Given the description of an element on the screen output the (x, y) to click on. 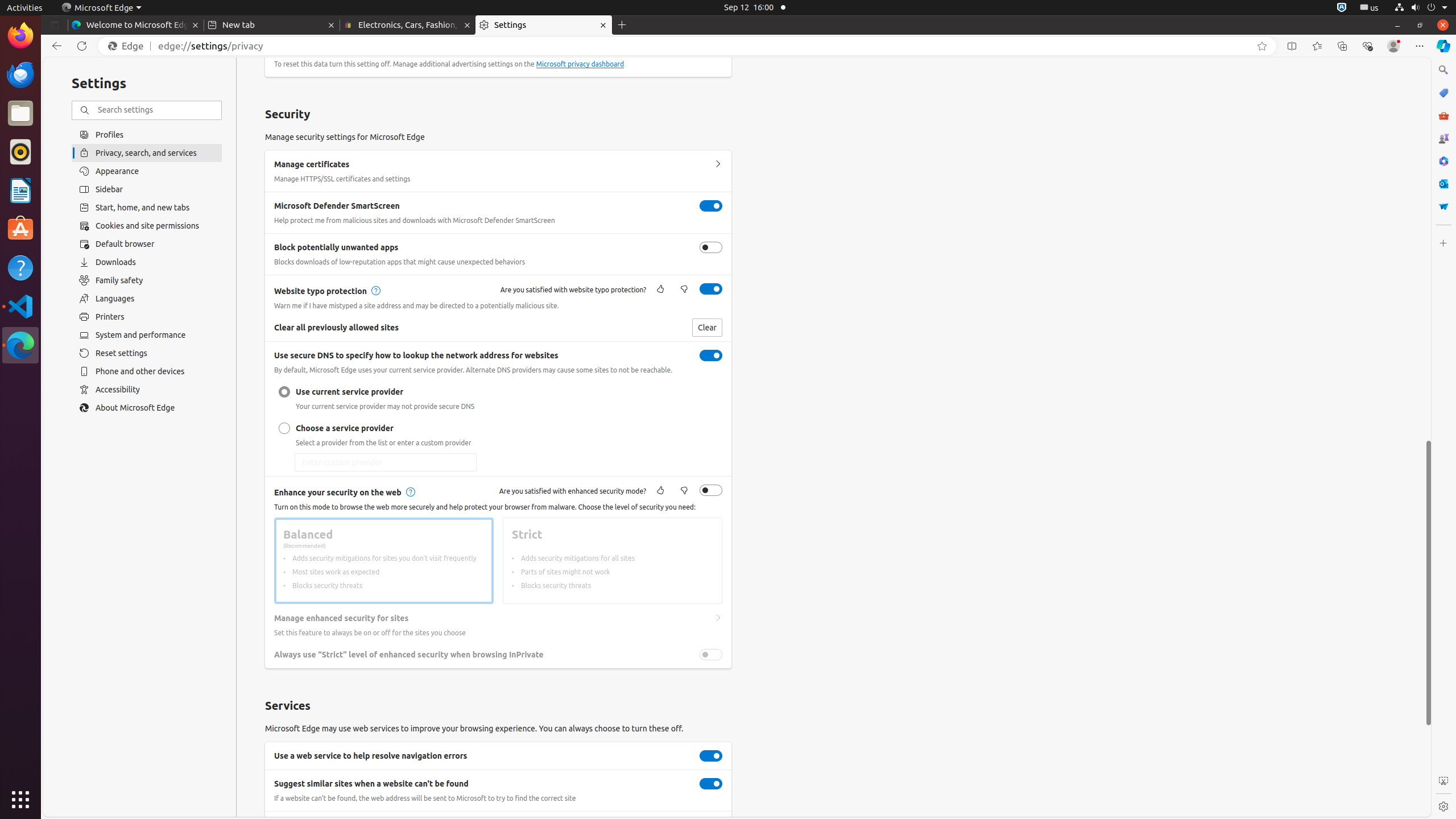
Tab actions menu Element type: push-button (54, 24)
:1.21/StatusNotifierItem Element type: menu (1369, 7)
Clear all previously allowed sites Element type: push-button (706, 327)
Search Element type: push-button (1443, 69)
Dislike Element type: toggle-button (684, 491)
